Given the description of an element on the screen output the (x, y) to click on. 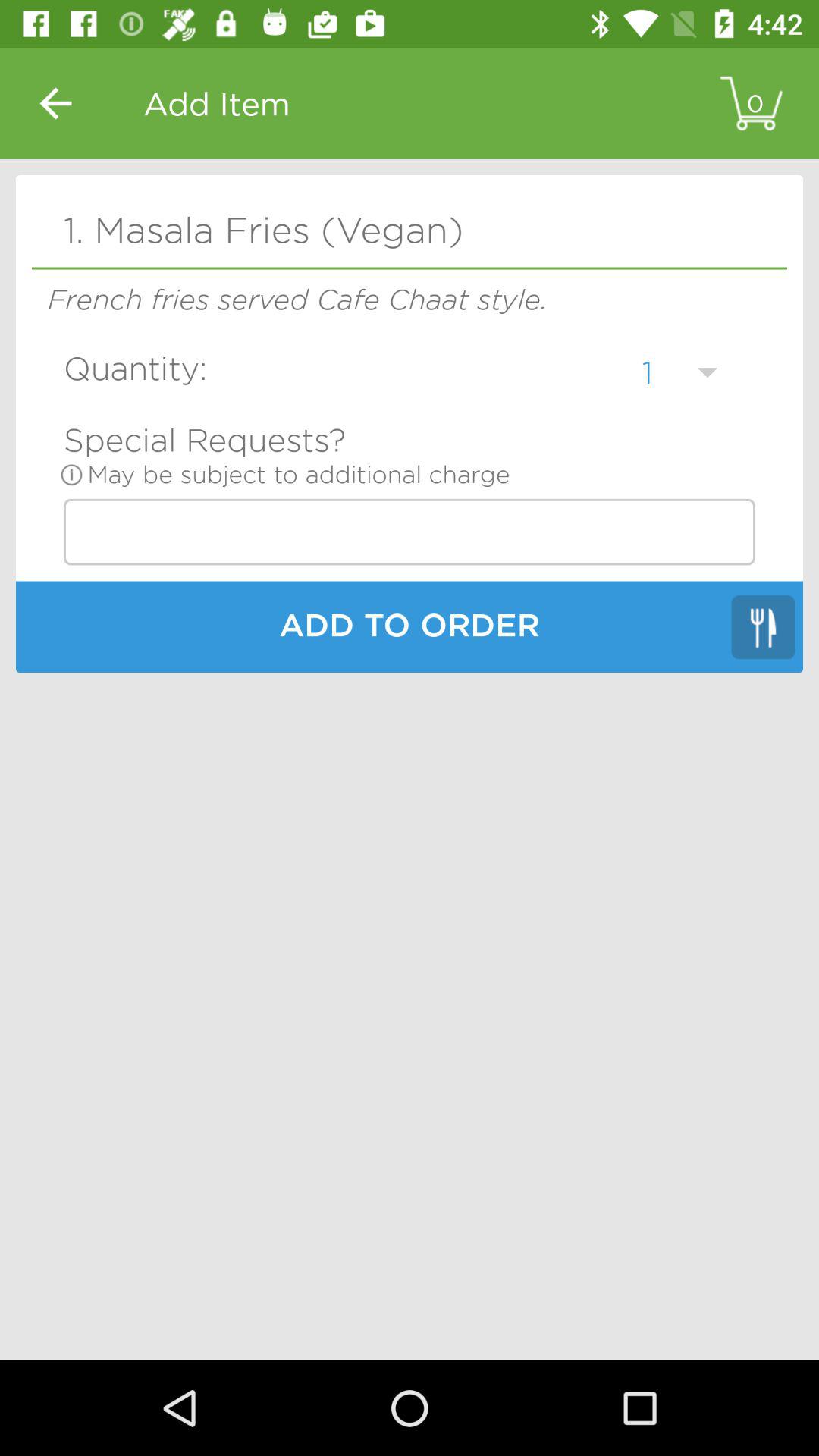
enter text (409, 531)
